Given the description of an element on the screen output the (x, y) to click on. 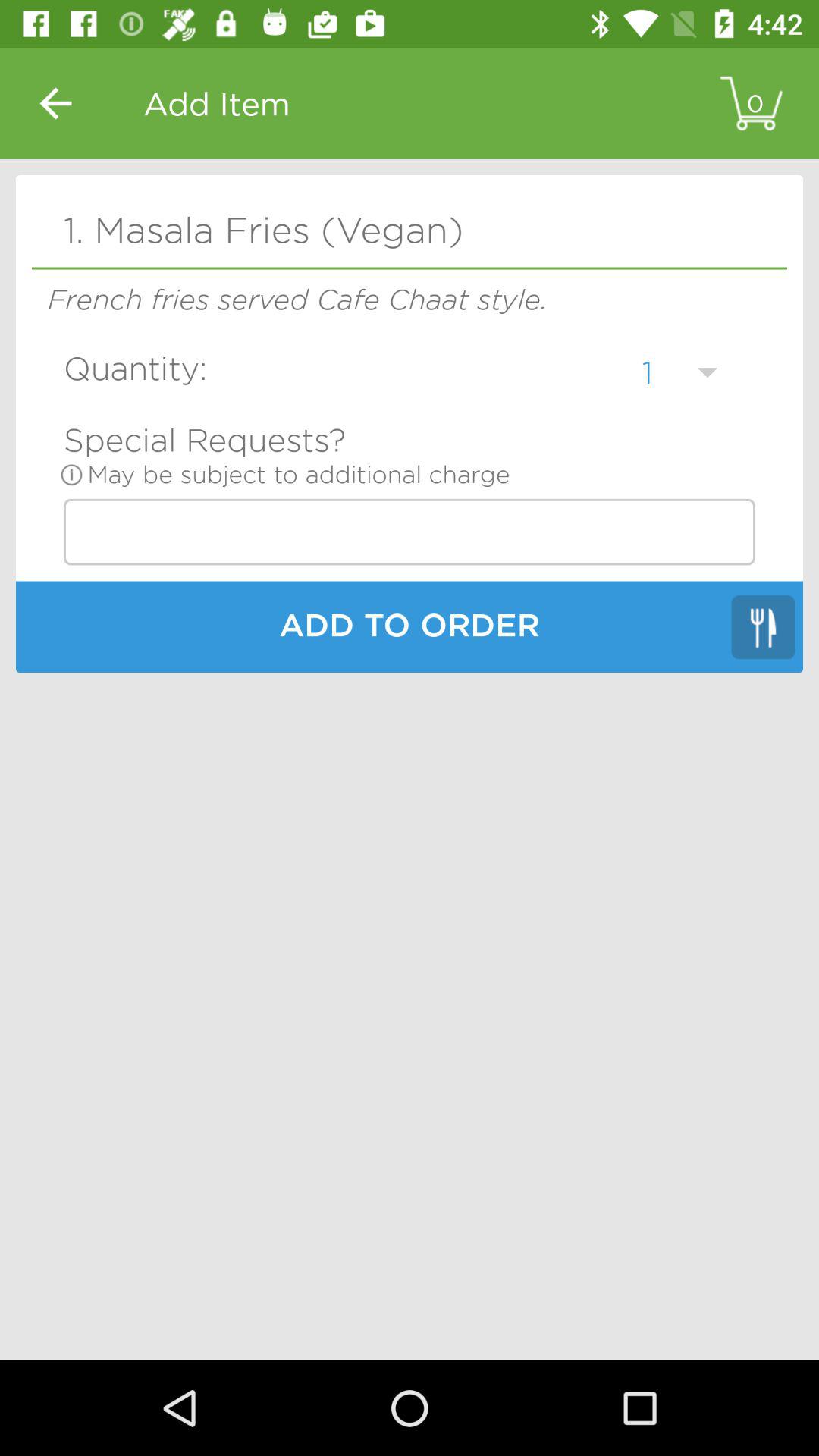
enter text (409, 531)
